Given the description of an element on the screen output the (x, y) to click on. 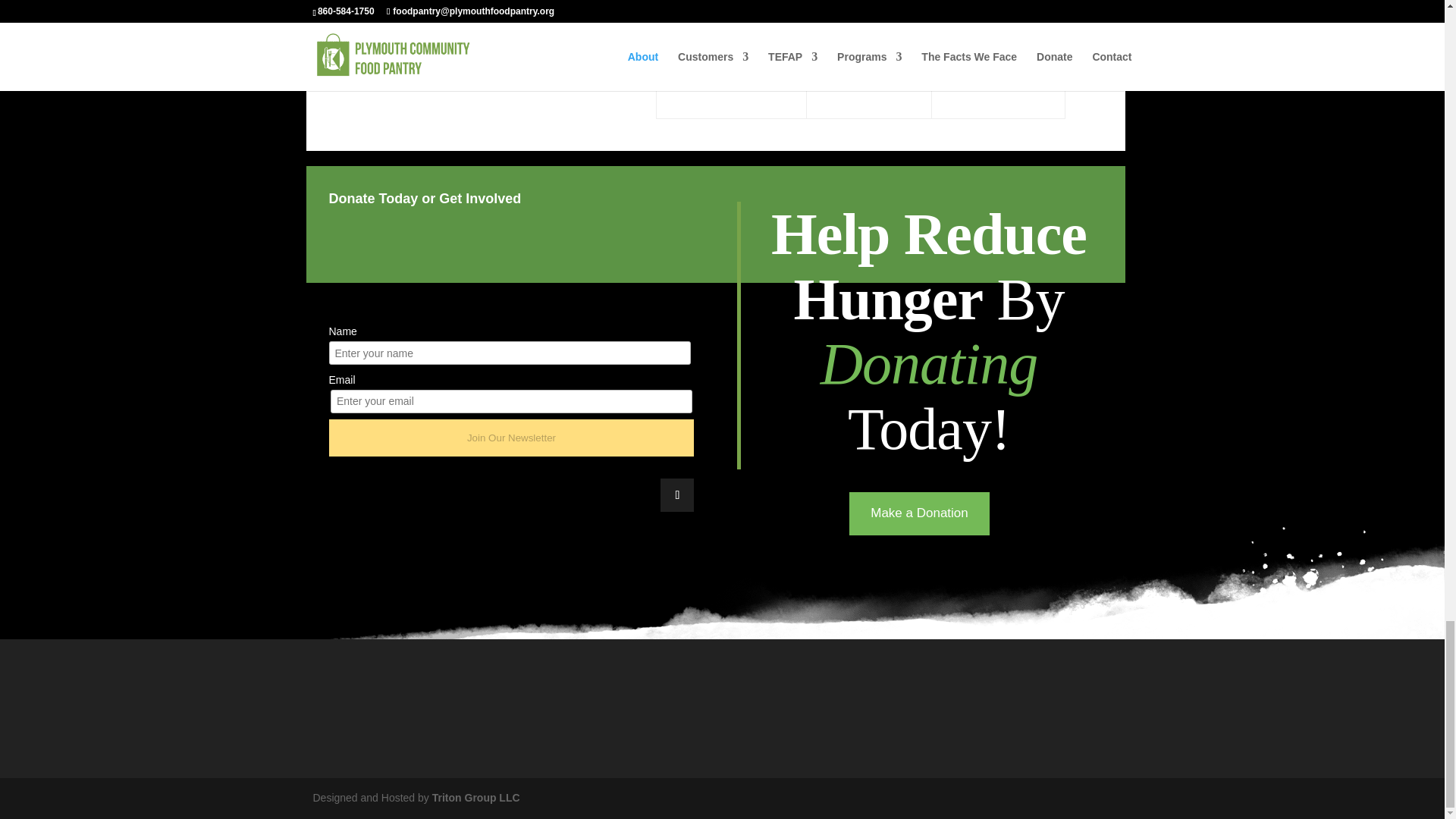
Follow on Facebook (677, 494)
Join Our Newsletter (511, 437)
Make a Donation (919, 513)
Triton Group LLC (475, 797)
Join Our Newsletter (511, 437)
